Given the description of an element on the screen output the (x, y) to click on. 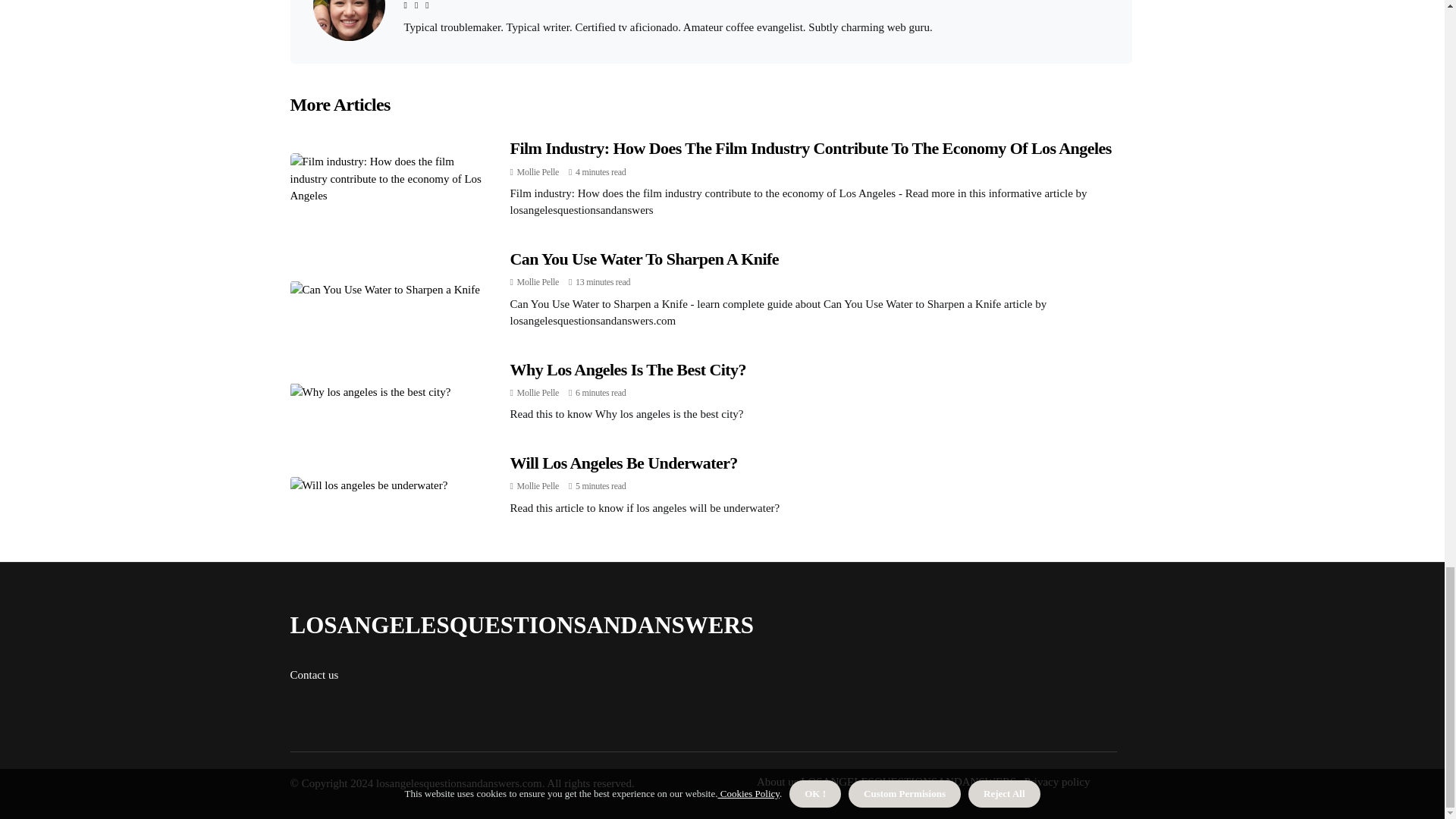
Posts by Mollie Pelle (537, 392)
Posts by Mollie Pelle (537, 485)
Mollie Pelle (537, 392)
Can You Use Water To Sharpen A Knife (643, 258)
Mollie Pelle (537, 485)
Why Los Angeles Is The Best City? (627, 369)
Posts by Mollie Pelle (537, 172)
Mollie Pelle (537, 172)
Posts by Mollie Pelle (537, 281)
Will Los Angeles Be Underwater? (622, 462)
